Given the description of an element on the screen output the (x, y) to click on. 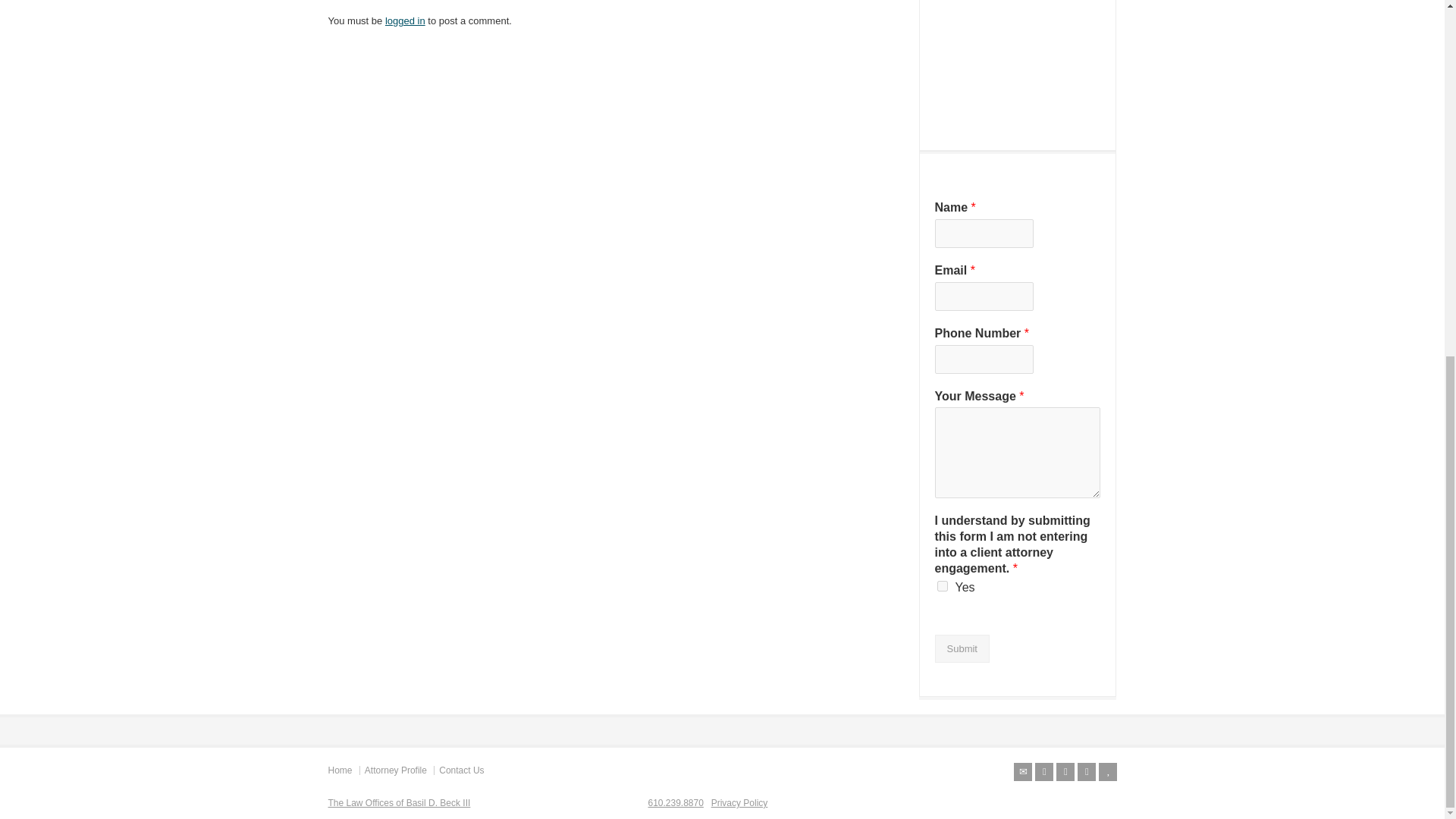
Email (1021, 771)
Yes (942, 585)
YouTube (1106, 771)
Facebook (1064, 771)
Twitter (1042, 771)
Linkedin (1085, 771)
